Given the description of an element on the screen output the (x, y) to click on. 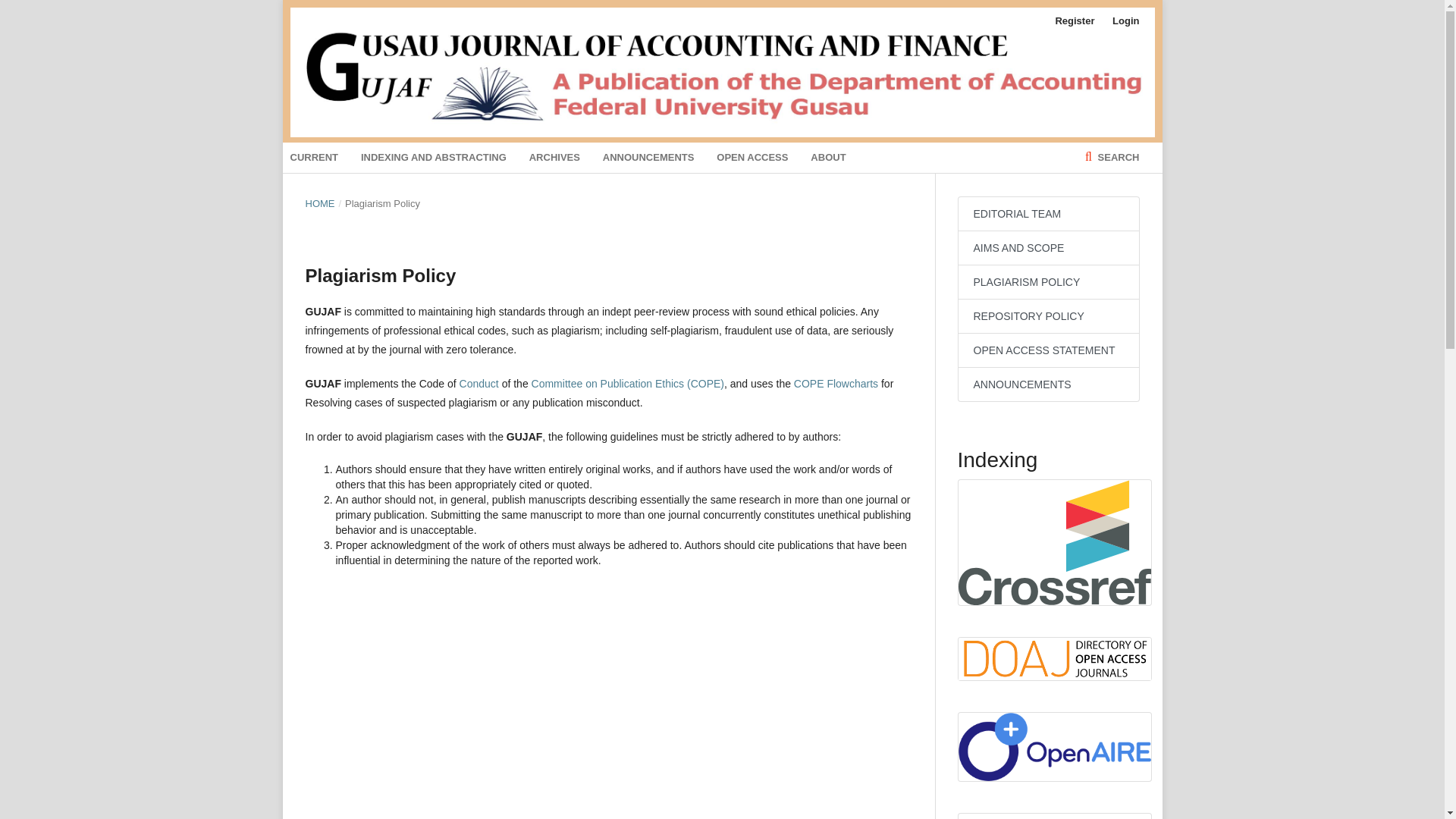
INDEXING AND ABSTRACTING (433, 157)
SEARCH (1112, 157)
AIMS AND SCOPE (1047, 247)
OPEN ACCESS STATEMENT (1047, 349)
ABOUT (827, 157)
CURRENT (313, 157)
COPE Flowcharts (835, 383)
EDITORIAL TEAM (1047, 213)
ANNOUNCEMENTS (1047, 384)
HOME (319, 203)
Conduct (479, 383)
ANNOUNCEMENTS (648, 157)
Login (1121, 20)
ARCHIVES (554, 157)
PLAGIARISM POLICY (1047, 281)
